Given the description of an element on the screen output the (x, y) to click on. 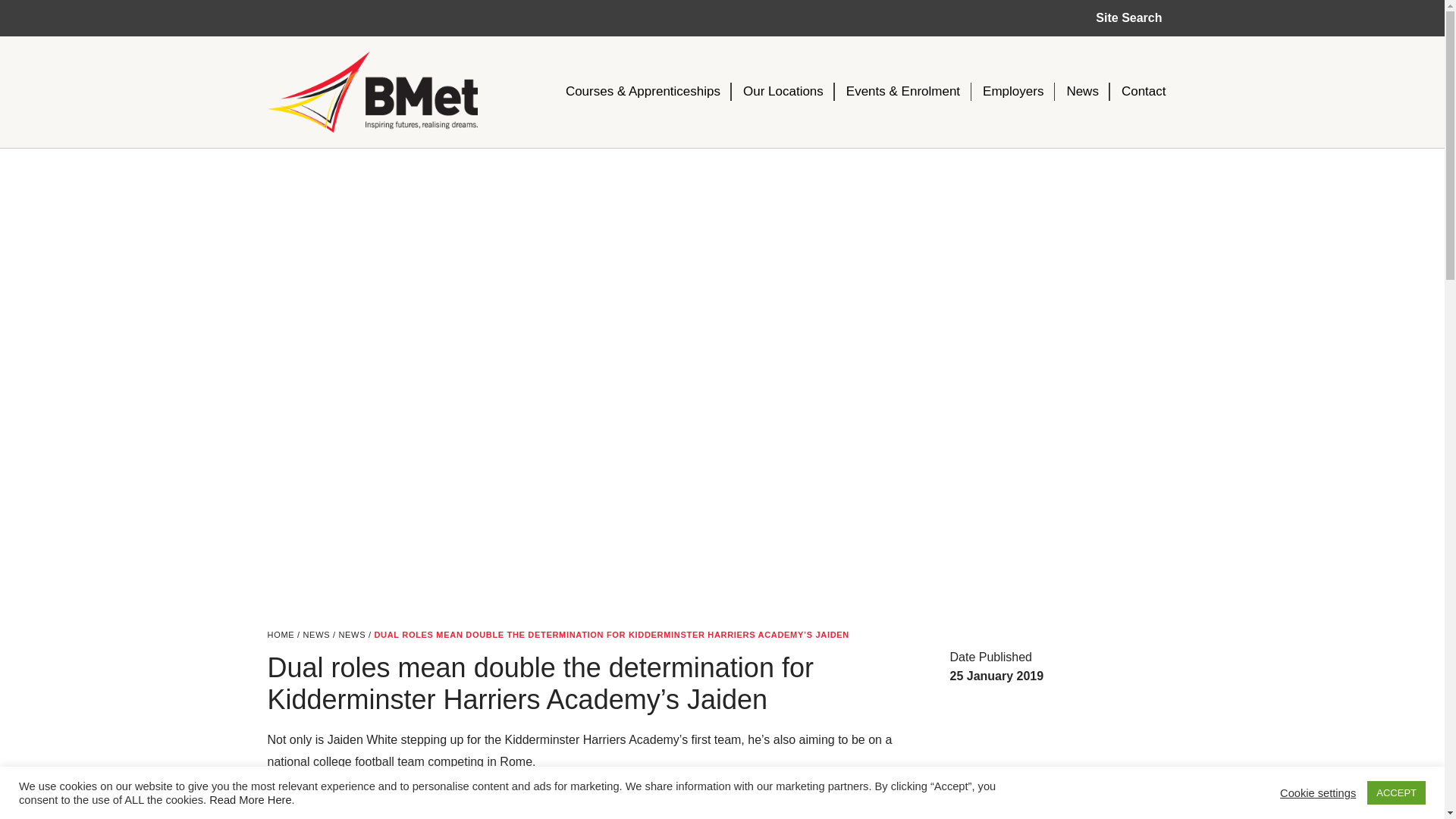
Go to News. (316, 634)
Go to BMet. (280, 634)
Go to the News category archives. (351, 634)
Site Search (1128, 17)
